Given the description of an element on the screen output the (x, y) to click on. 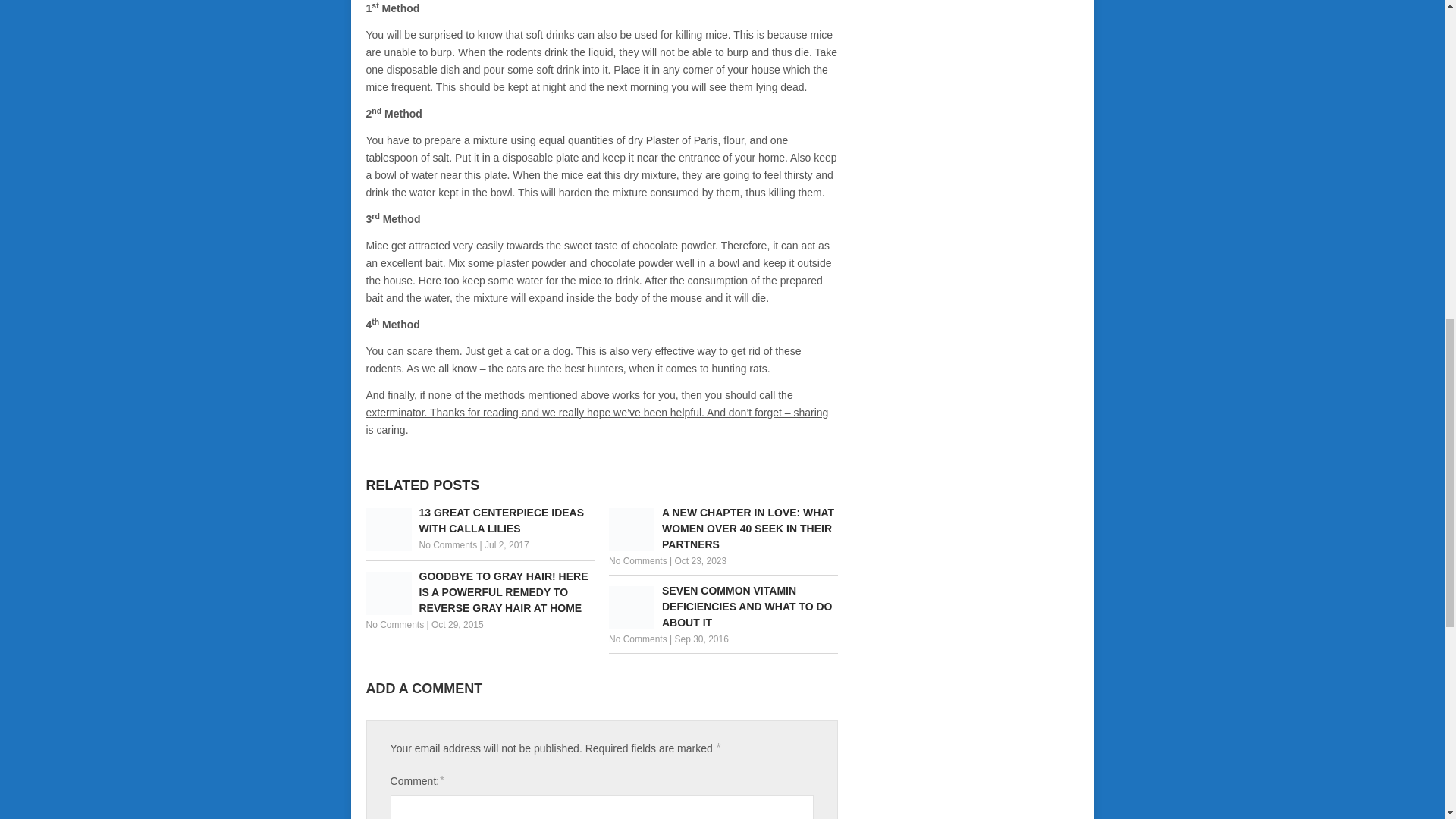
Seven Common Vitamin Deficiencies And What To Do About It (723, 606)
No Comments (637, 561)
No Comments (448, 544)
No Comments (394, 624)
SEVEN COMMON VITAMIN DEFICIENCIES AND WHAT TO DO ABOUT IT (723, 606)
13 Great Centerpiece Ideas With Calla Lilies (479, 521)
No Comments (637, 638)
13 GREAT CENTERPIECE IDEAS WITH CALLA LILIES (479, 521)
